Given the description of an element on the screen output the (x, y) to click on. 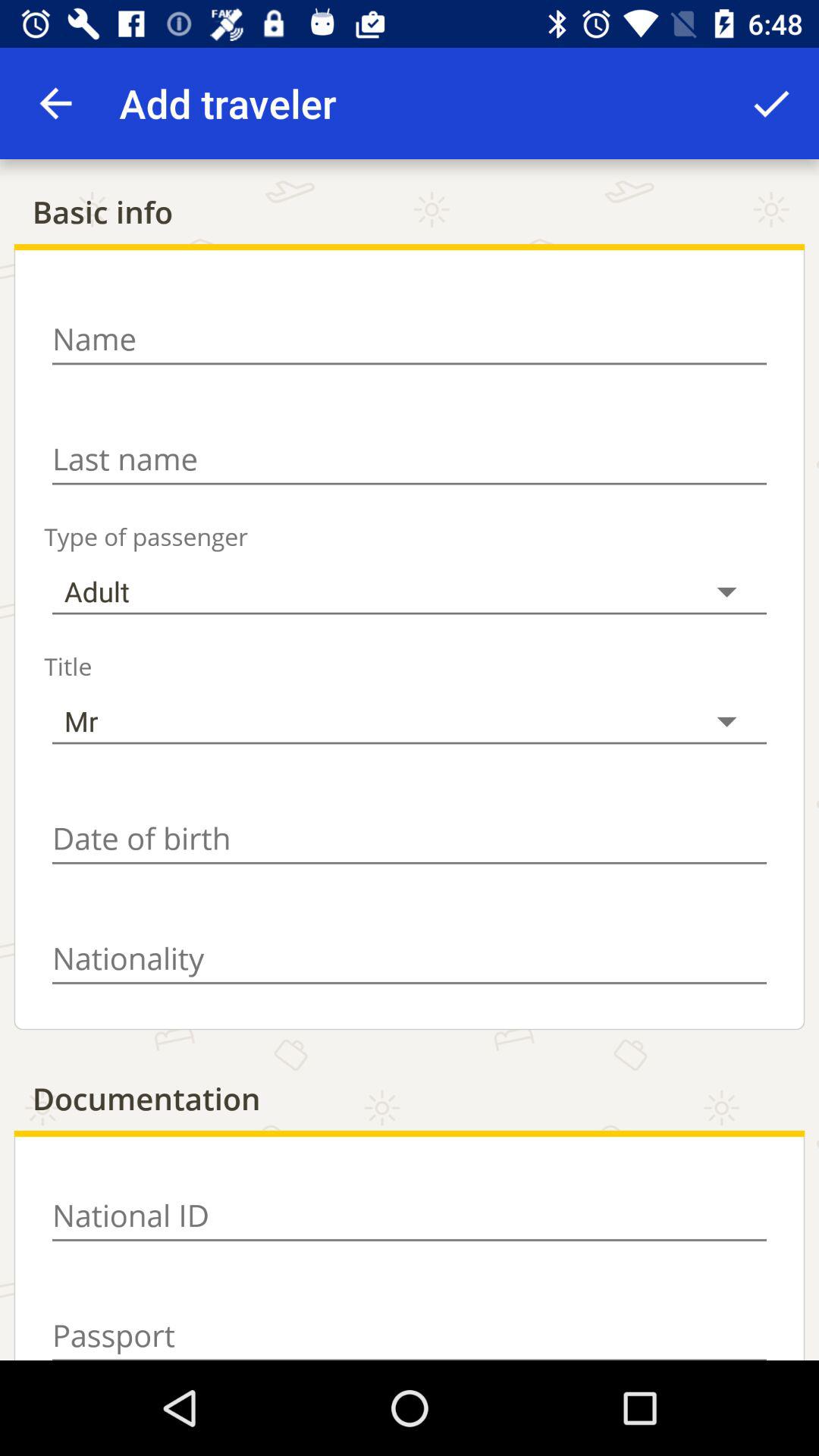
set your nationality (409, 958)
